Given the description of an element on the screen output the (x, y) to click on. 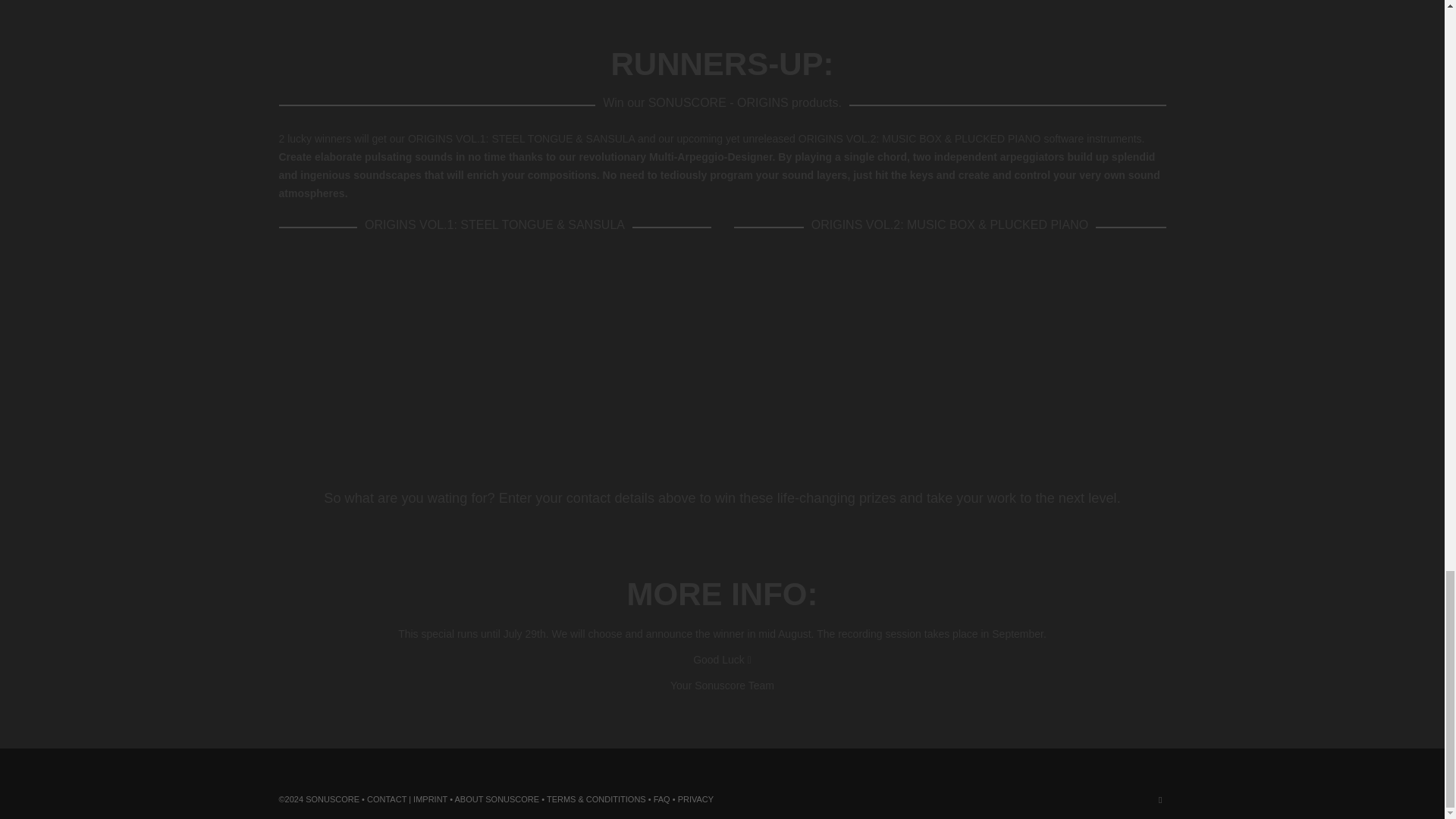
FAQ (661, 798)
PRIVACY (695, 798)
ABOUT SONUSCORE (497, 798)
